Given the description of an element on the screen output the (x, y) to click on. 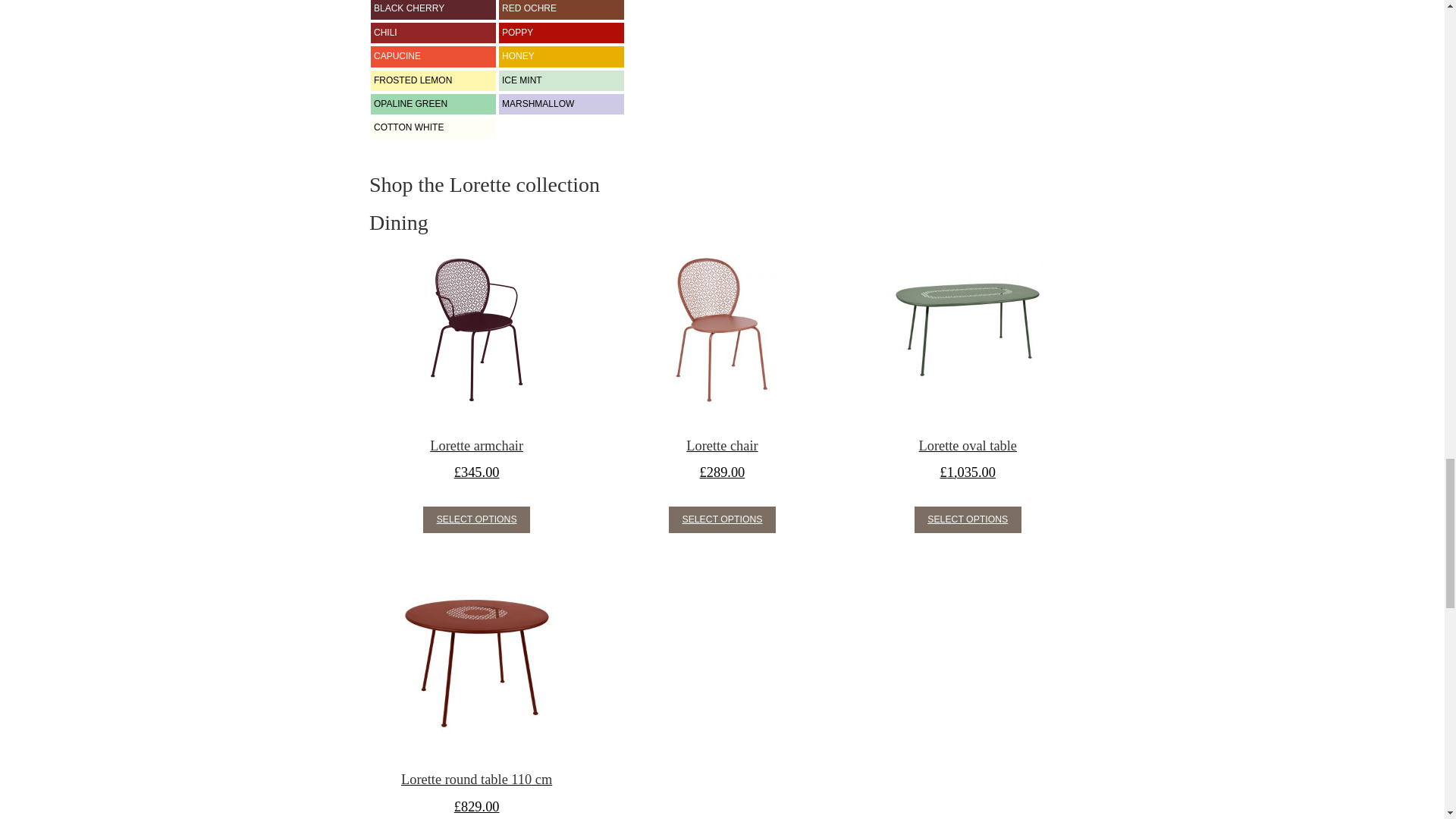
Minimum qty is 2 (476, 519)
Minimum qty is 1 (968, 519)
Minimum qty is 2 (722, 519)
